Given the description of an element on the screen output the (x, y) to click on. 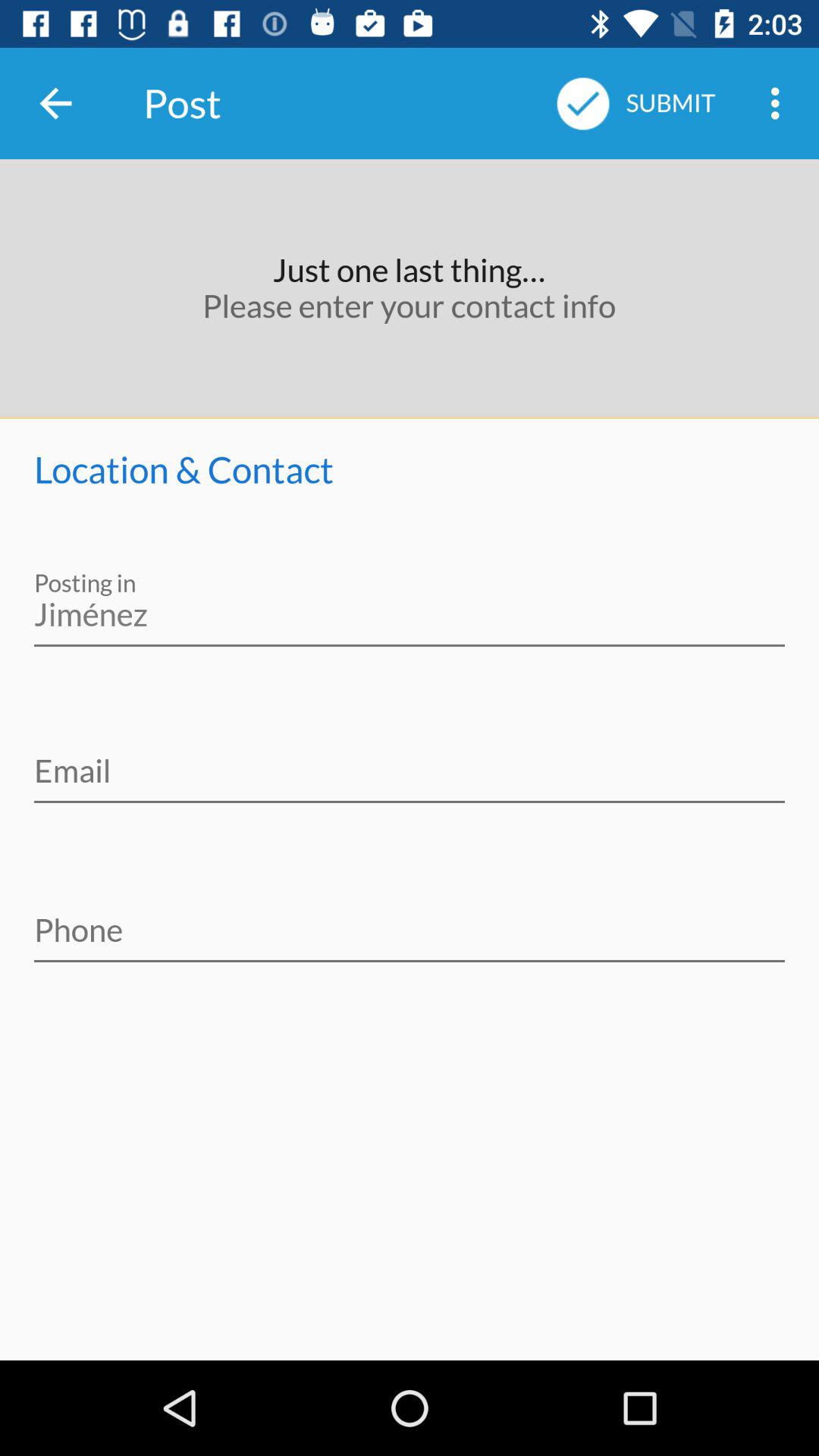
choose the icon next to the post (55, 103)
